Given the description of an element on the screen output the (x, y) to click on. 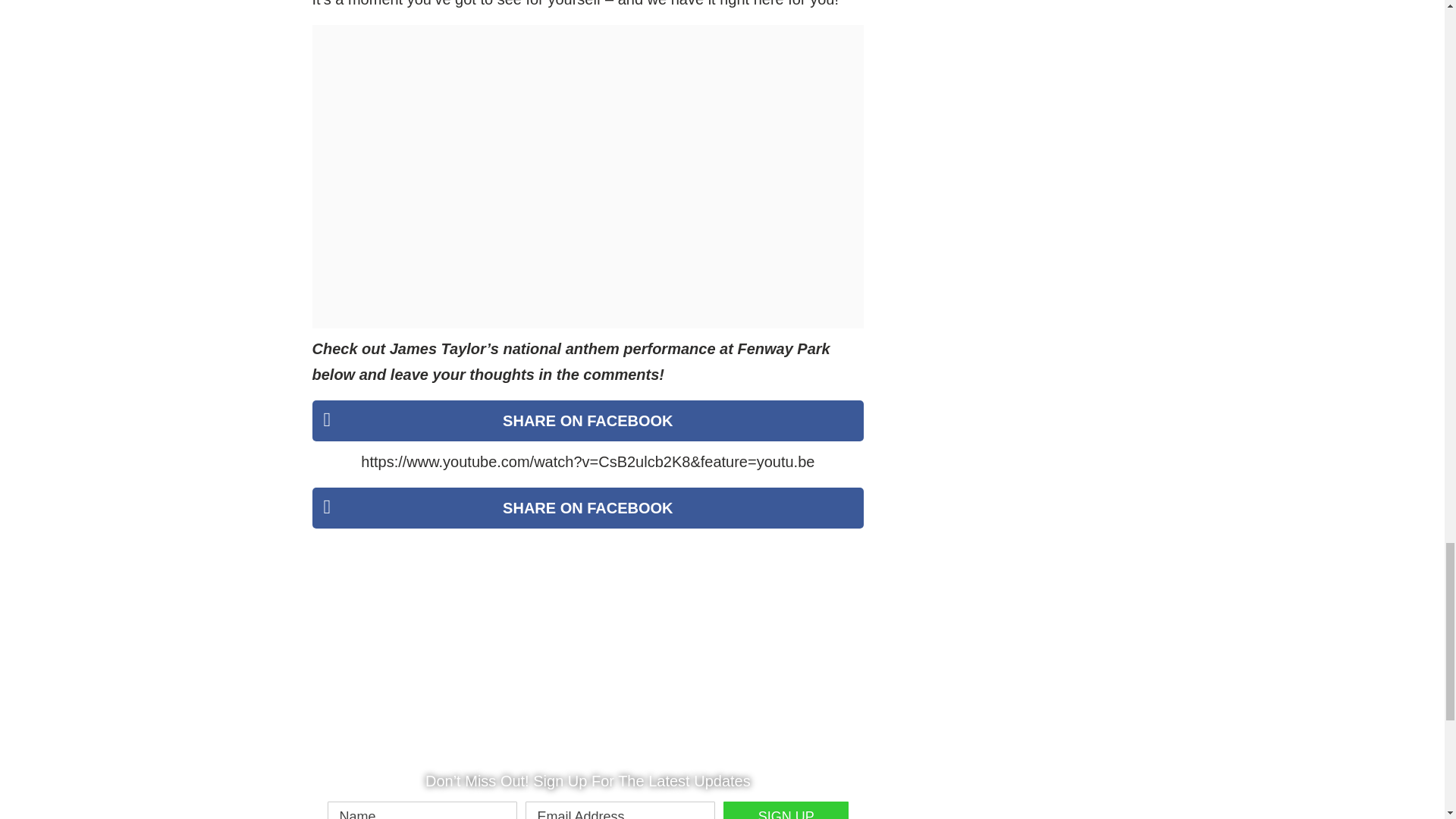
Sign Up (785, 810)
